Given the description of an element on the screen output the (x, y) to click on. 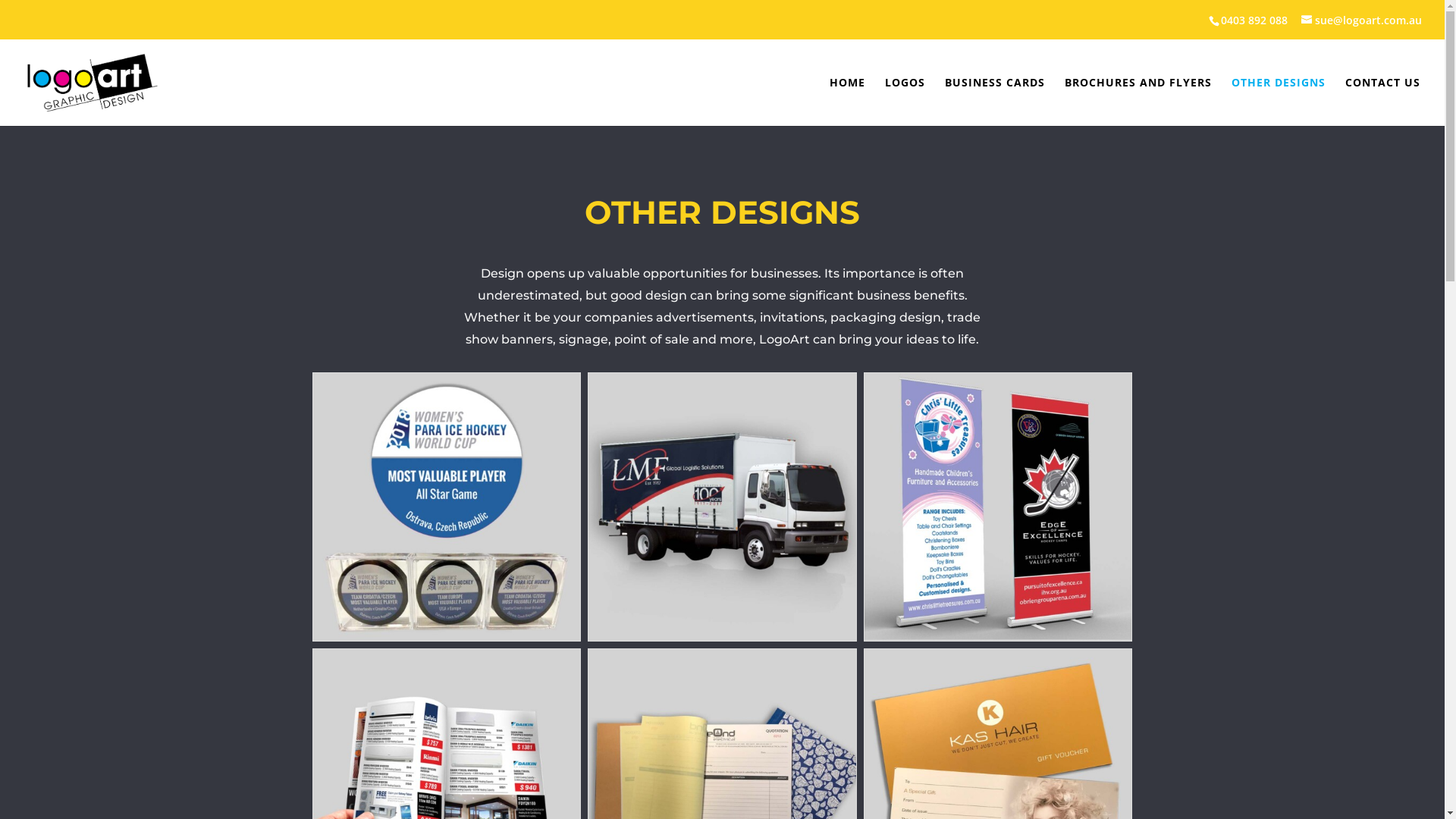
BUSINESS CARDS Element type: text (994, 101)
LOGOS Element type: text (904, 101)
CONTACT US Element type: text (1382, 101)
sue@logoart.com.au Element type: text (1361, 18)
HOME Element type: text (847, 101)
OTHER DESIGNS Element type: text (1278, 101)
BROCHURES AND FLYERS Element type: text (1137, 101)
